Given the description of an element on the screen output the (x, y) to click on. 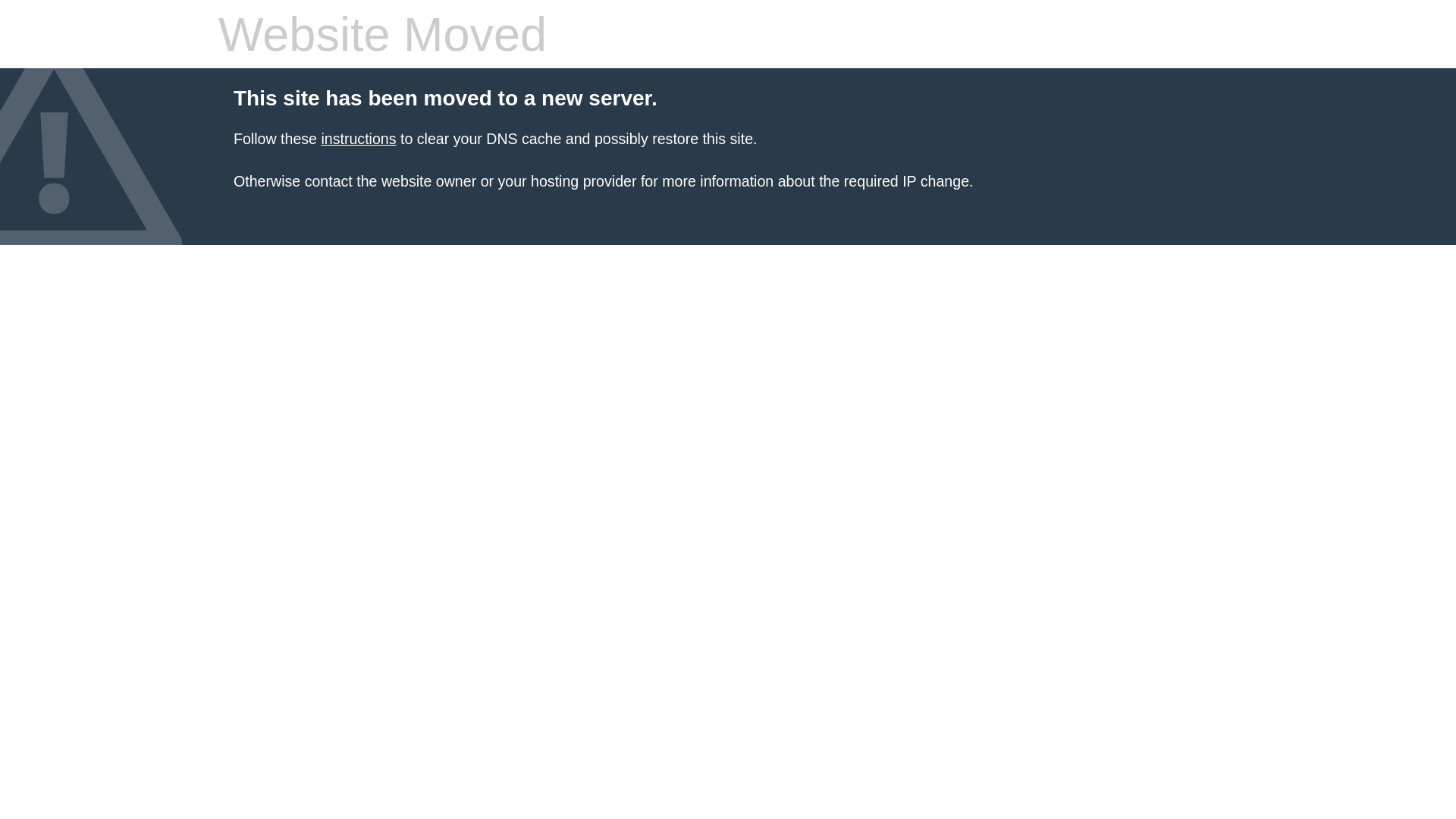
instructions Element type: text (357, 138)
